Given the description of an element on the screen output the (x, y) to click on. 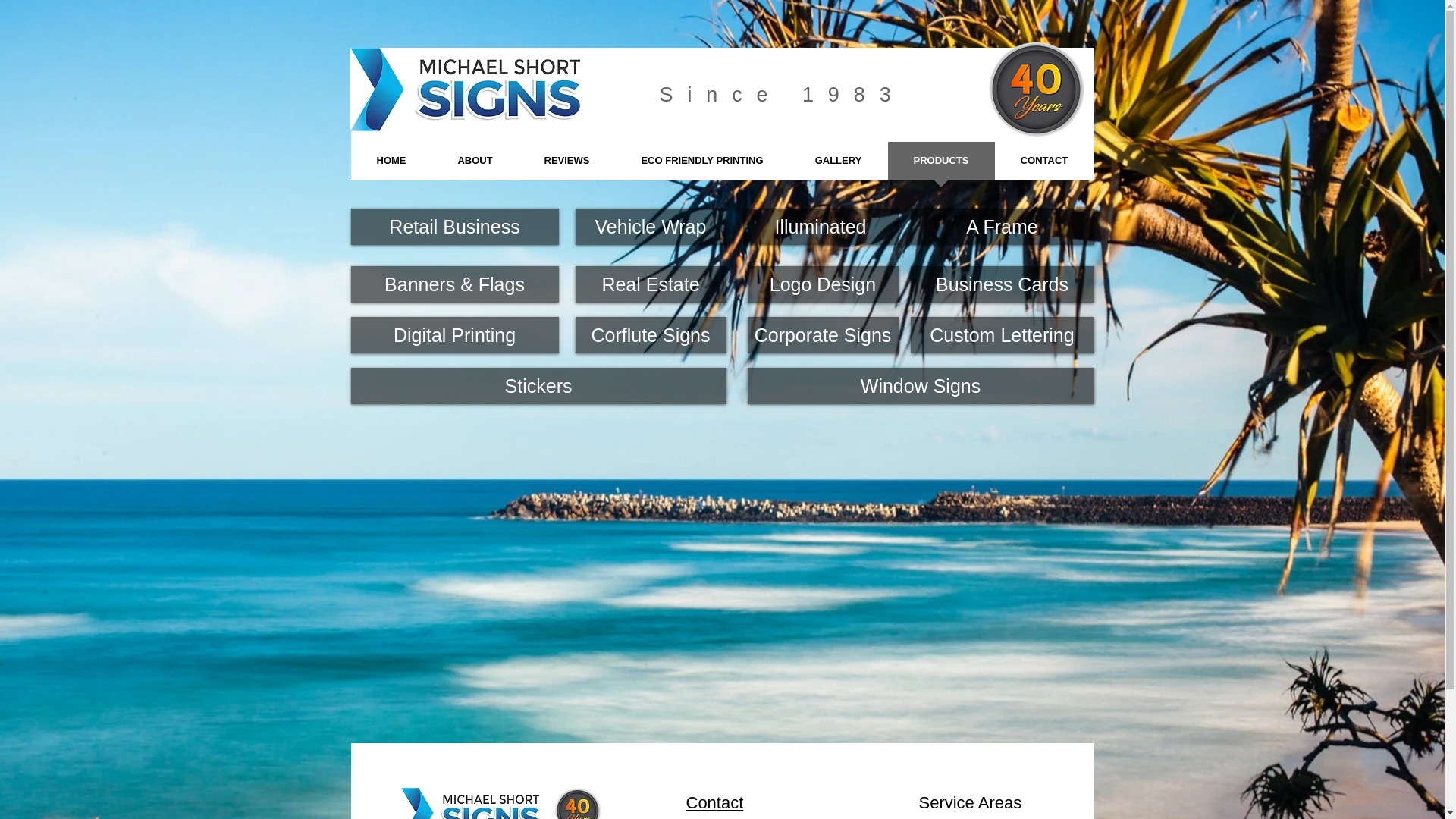
Illuminated Element type: text (820, 226)
Corflute Signs Element type: text (649, 334)
ABOUT Element type: text (475, 165)
Business Cards Element type: text (1001, 284)
Retail Business Element type: text (454, 226)
Custom Lettering Element type: text (1001, 334)
PRODUCTS Element type: text (940, 165)
A Frame Element type: text (1001, 226)
Vehicle Wrap Element type: text (649, 226)
ECO FRIENDLY PRINTING Element type: text (702, 165)
Banners & Flags Element type: text (454, 284)
CONTACT Element type: text (1044, 165)
Corporate Signs Element type: text (822, 334)
Digital Printing Element type: text (454, 334)
Logo Design Element type: text (822, 284)
GALLERY Element type: text (837, 165)
Stickers Element type: text (537, 385)
Contact Element type: text (714, 802)
HOME Element type: text (390, 165)
TWIPLA (Visitor Analytics) Element type: hover (1442, 4)
REVIEWS Element type: text (566, 165)
Real Estate Element type: text (649, 284)
Window Signs Element type: text (920, 385)
